Given the description of an element on the screen output the (x, y) to click on. 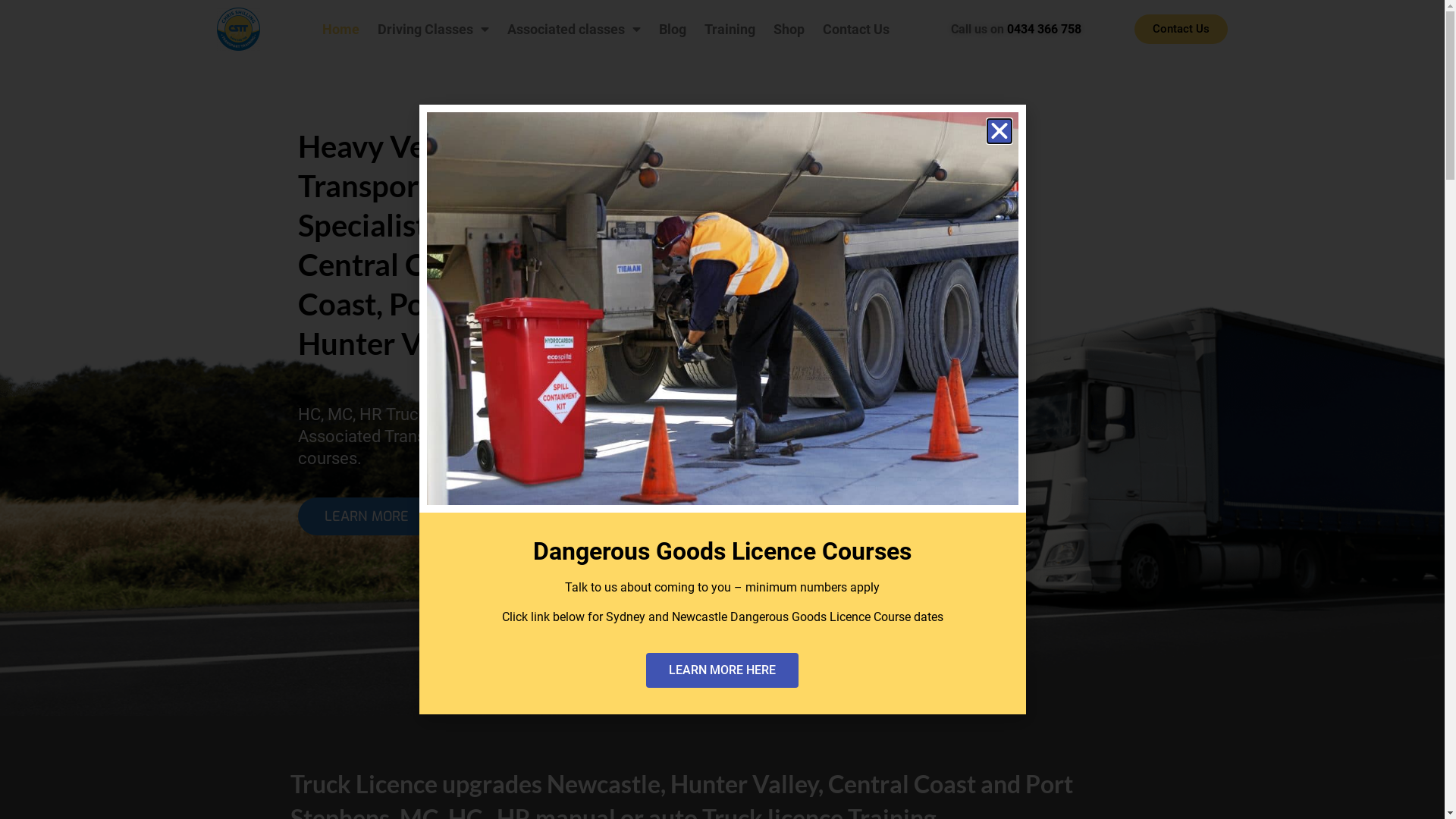
Shop Element type: text (788, 29)
Contact Us Element type: text (1180, 28)
LEARN MORE Element type: text (366, 516)
Associated classes Element type: text (573, 29)
Contact Us Element type: text (855, 29)
Training Element type: text (729, 29)
Blog Element type: text (672, 29)
Home Element type: text (340, 29)
LEARN MORE HERE Element type: text (722, 669)
36822 Chris Shilling Training & Transport_Logo Element type: hover (238, 28)
Call us on 0434 366 758 Element type: text (1015, 28)
Driving Classes Element type: text (433, 29)
